Given the description of an element on the screen output the (x, y) to click on. 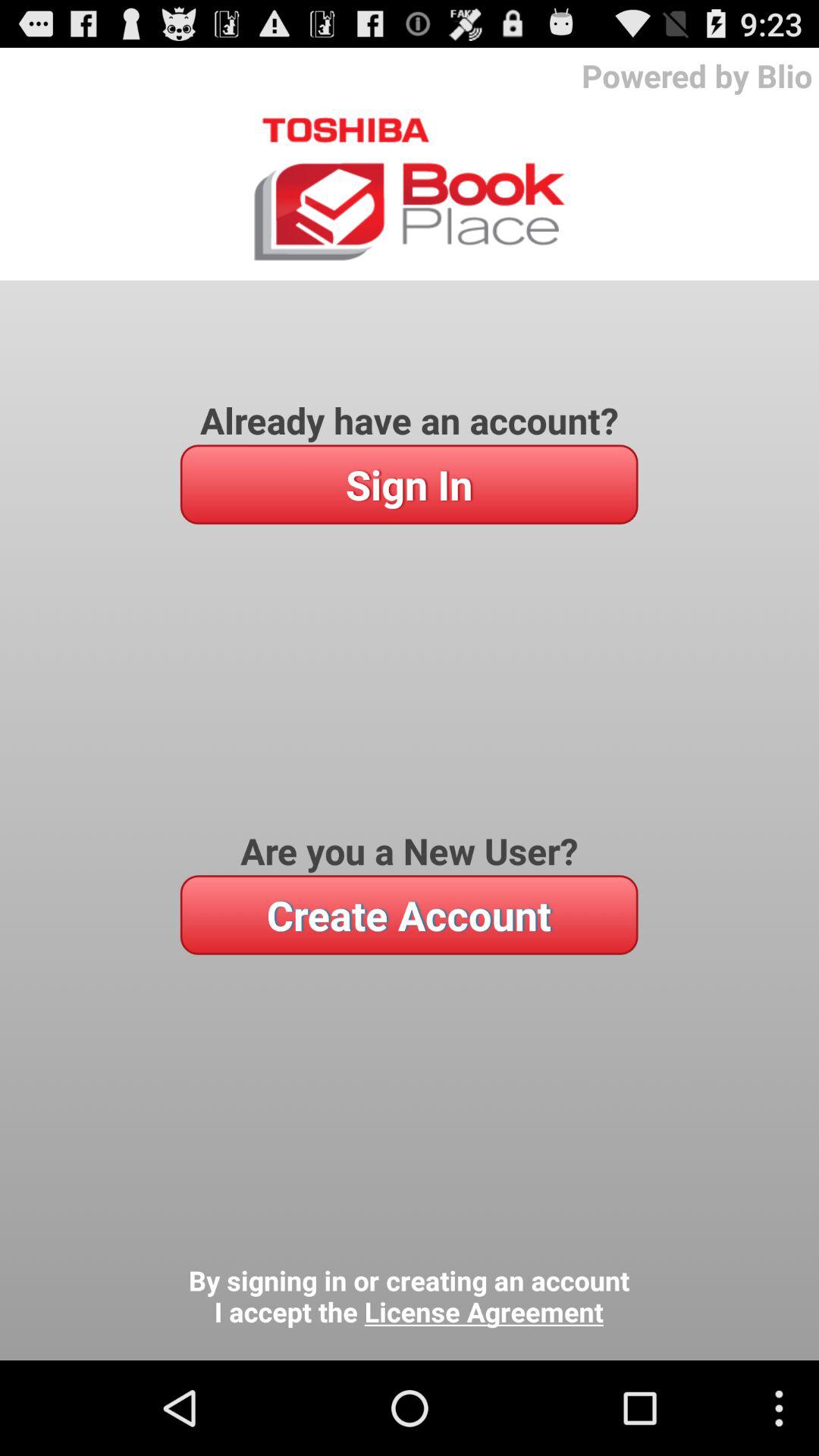
turn on the icon below already have an (409, 484)
